Given the description of an element on the screen output the (x, y) to click on. 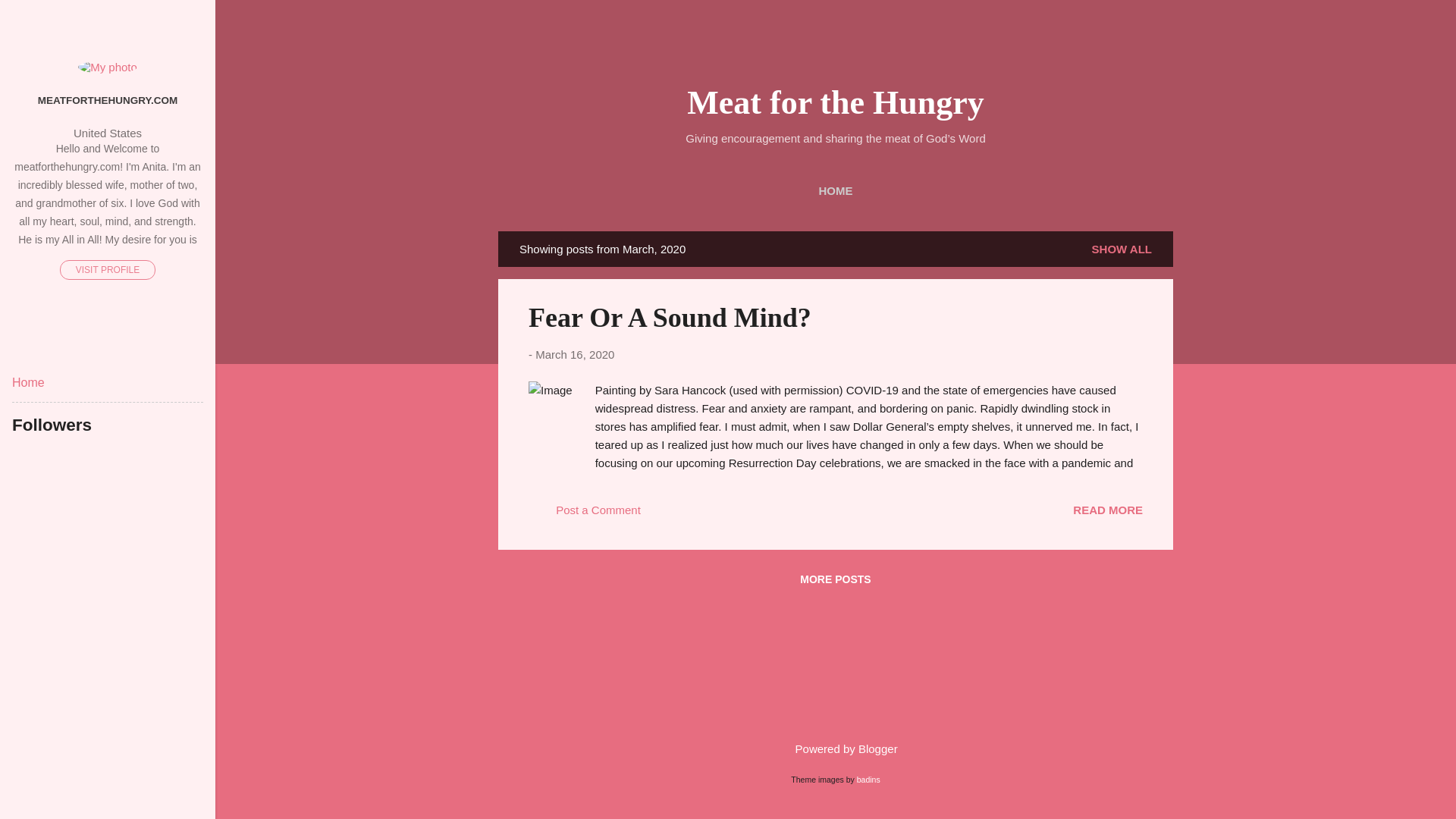
Home (28, 382)
More posts (834, 579)
Powered by Blogger (834, 748)
Fear Or A Sound Mind? (1107, 509)
March 16, 2020 (574, 354)
HOME (835, 191)
permanent link (574, 354)
Search (29, 18)
Post a Comment (584, 513)
badins (868, 778)
